Given the description of an element on the screen output the (x, y) to click on. 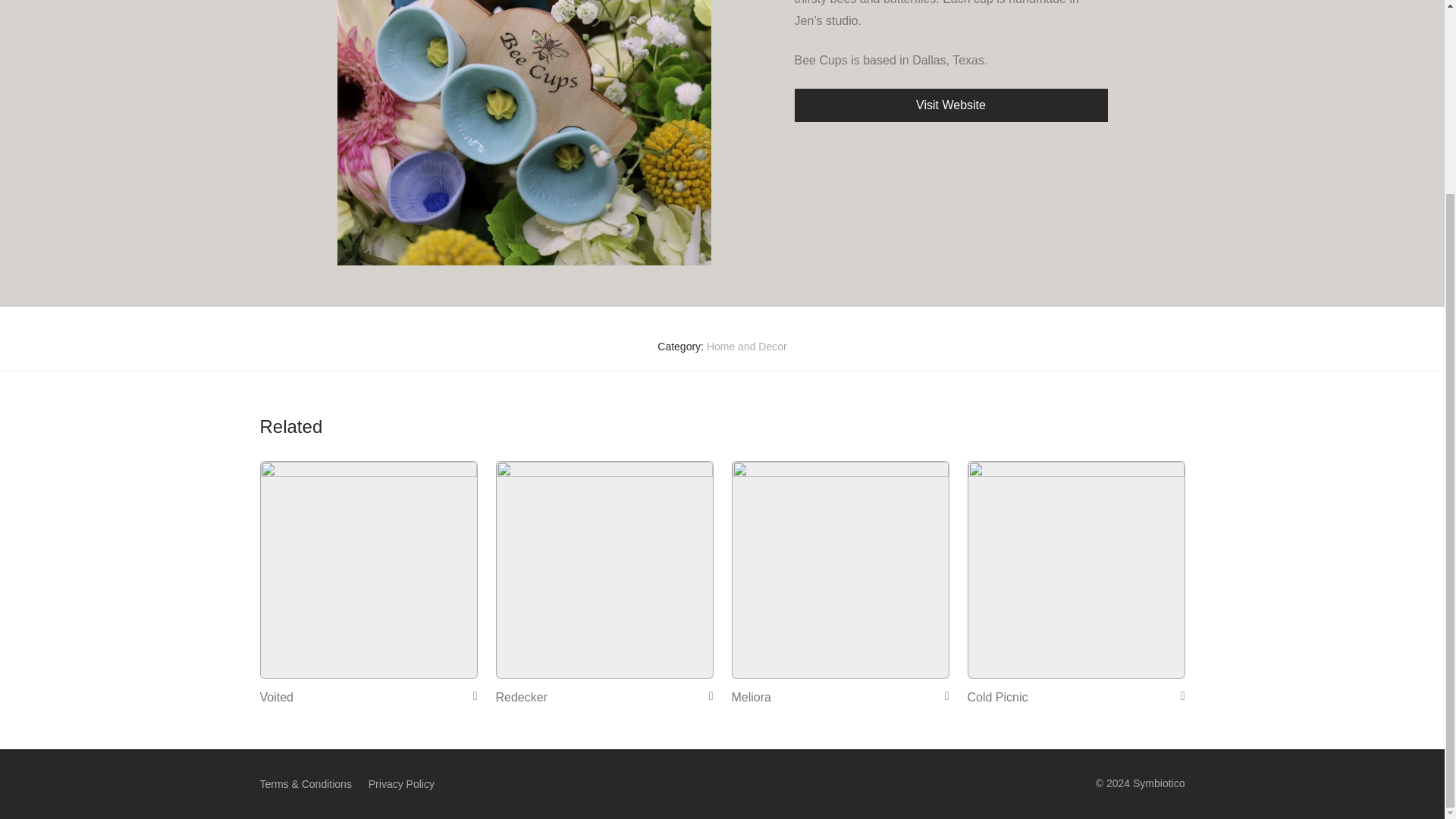
Meliora (750, 697)
Redecker (521, 697)
Visit Website (951, 105)
Voited (275, 697)
Add to Wishlist (1177, 695)
Home and Decor (746, 346)
beecups2 (523, 132)
Add to Wishlist (941, 695)
Privacy Policy (400, 784)
Add to Wishlist (705, 695)
Add to Wishlist (470, 695)
Cold Picnic (997, 697)
